Given the description of an element on the screen output the (x, y) to click on. 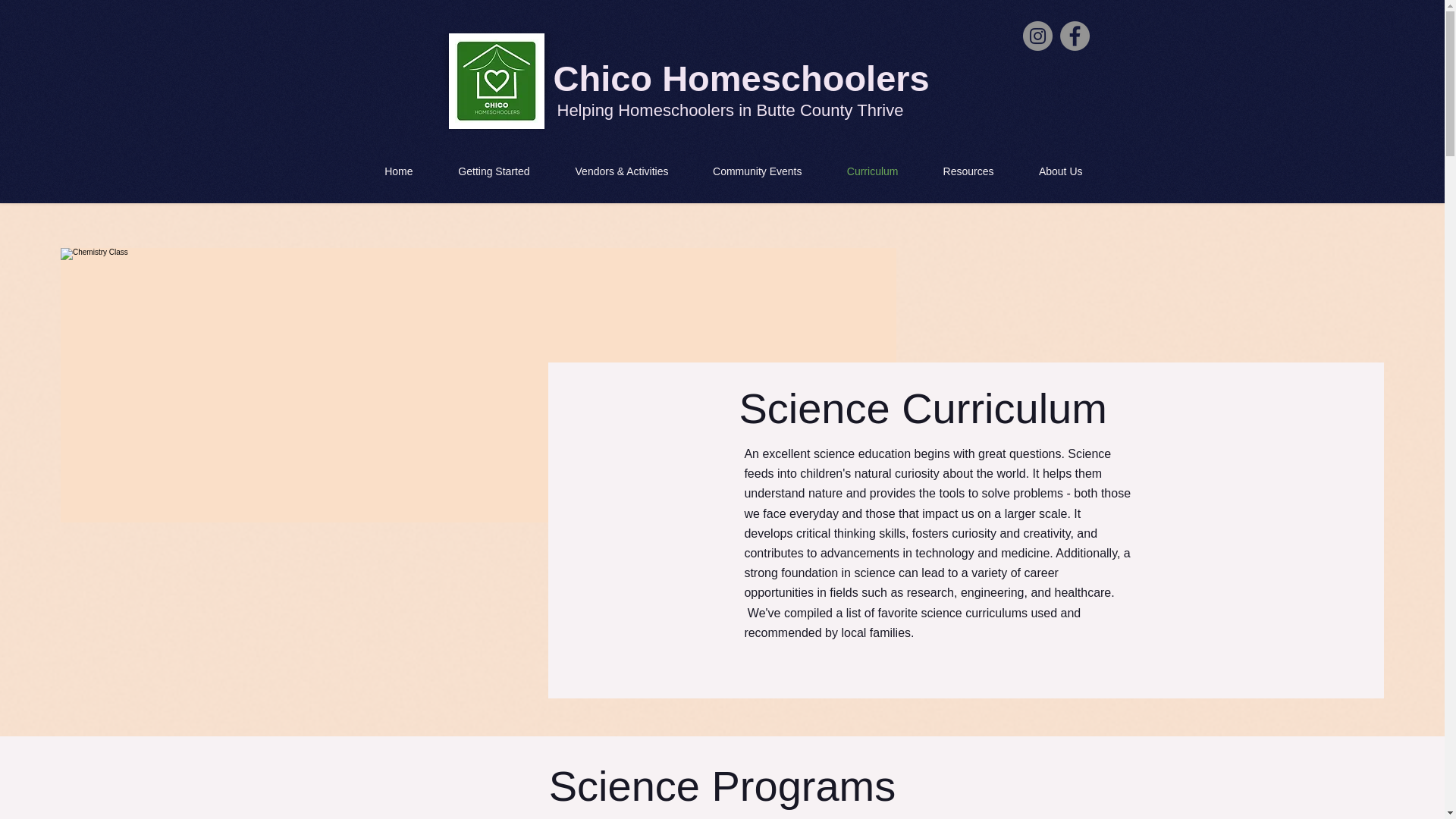
Resources (958, 171)
Curriculum (860, 171)
Home (386, 171)
Getting Started (483, 171)
Chico Homeschools Logo Small border.png (496, 80)
About Us (1050, 171)
Homeschoolers (796, 78)
Chico  (607, 78)
Helping Homeschoolers in Butte County Thrive (729, 109)
Community Events (745, 171)
